Given the description of an element on the screen output the (x, y) to click on. 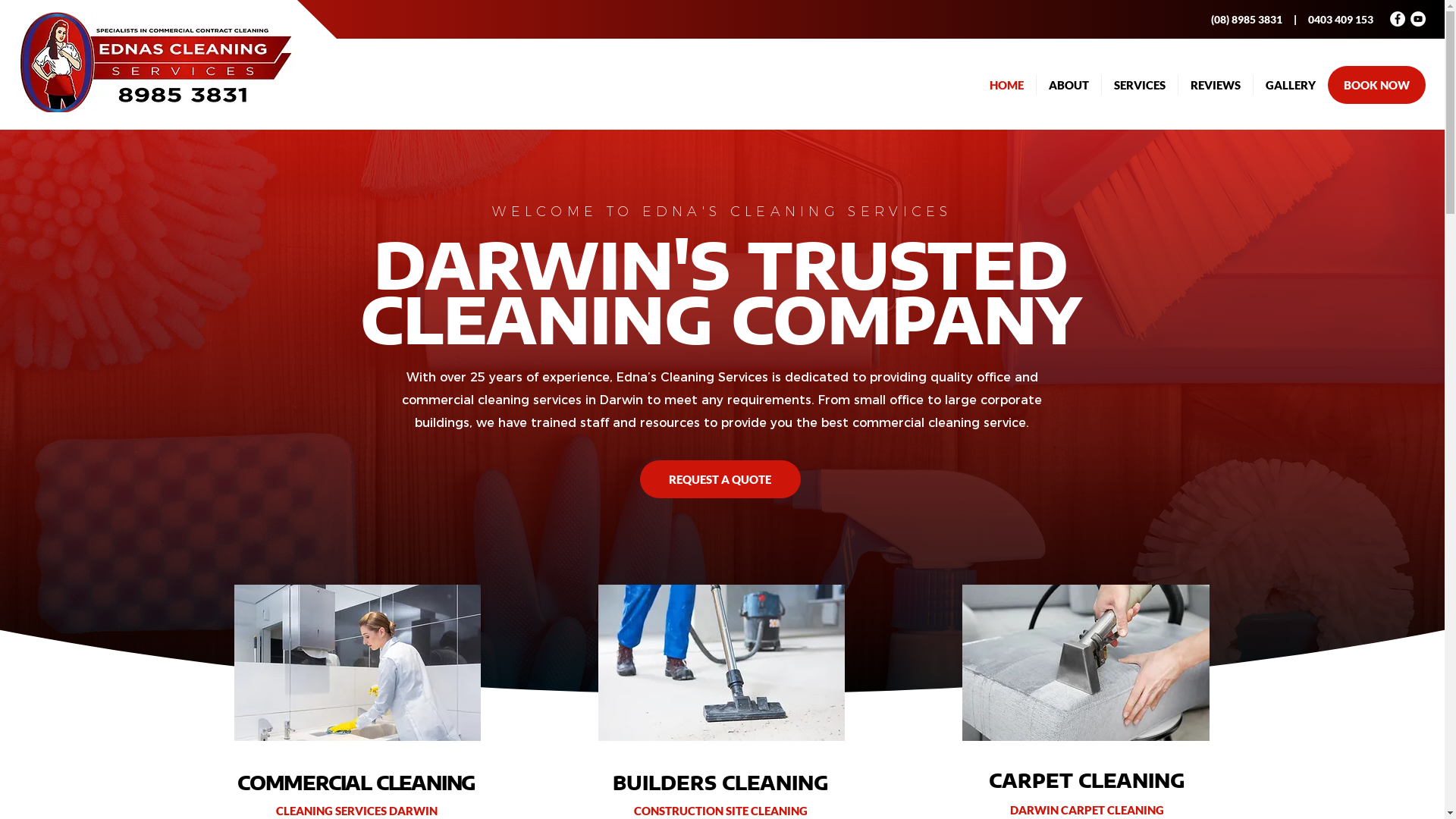
GALLERY Element type: text (1290, 84)
BOOK NOW Element type: text (1376, 84)
HOME Element type: text (1005, 84)
REVIEWS Element type: text (1215, 84)
ABOUT Element type: text (1068, 84)
REQUEST A QUOTE Element type: text (720, 479)
